Given the description of an element on the screen output the (x, y) to click on. 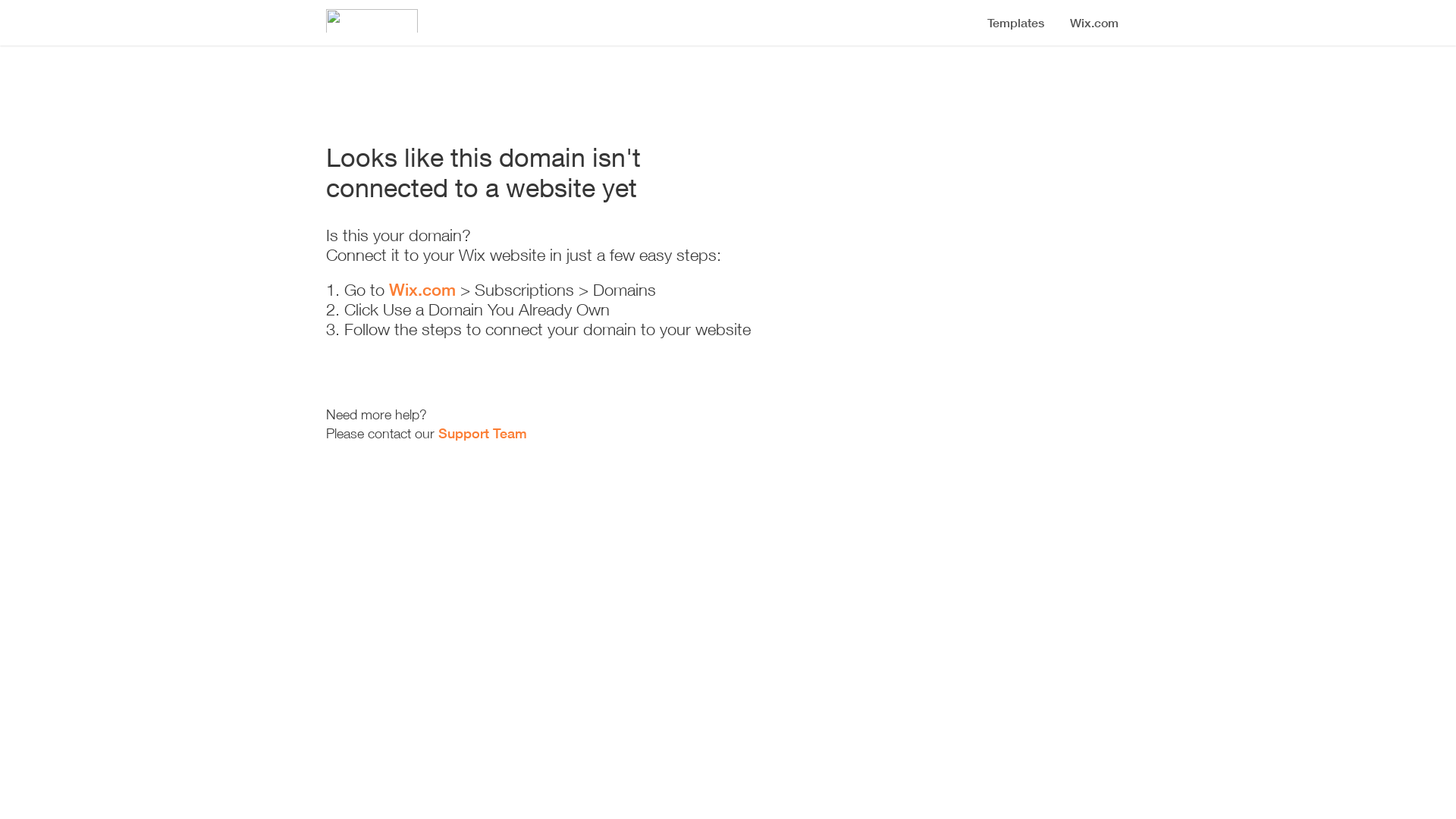
Support Team Element type: text (482, 432)
Wix.com Element type: text (422, 289)
